Given the description of an element on the screen output the (x, y) to click on. 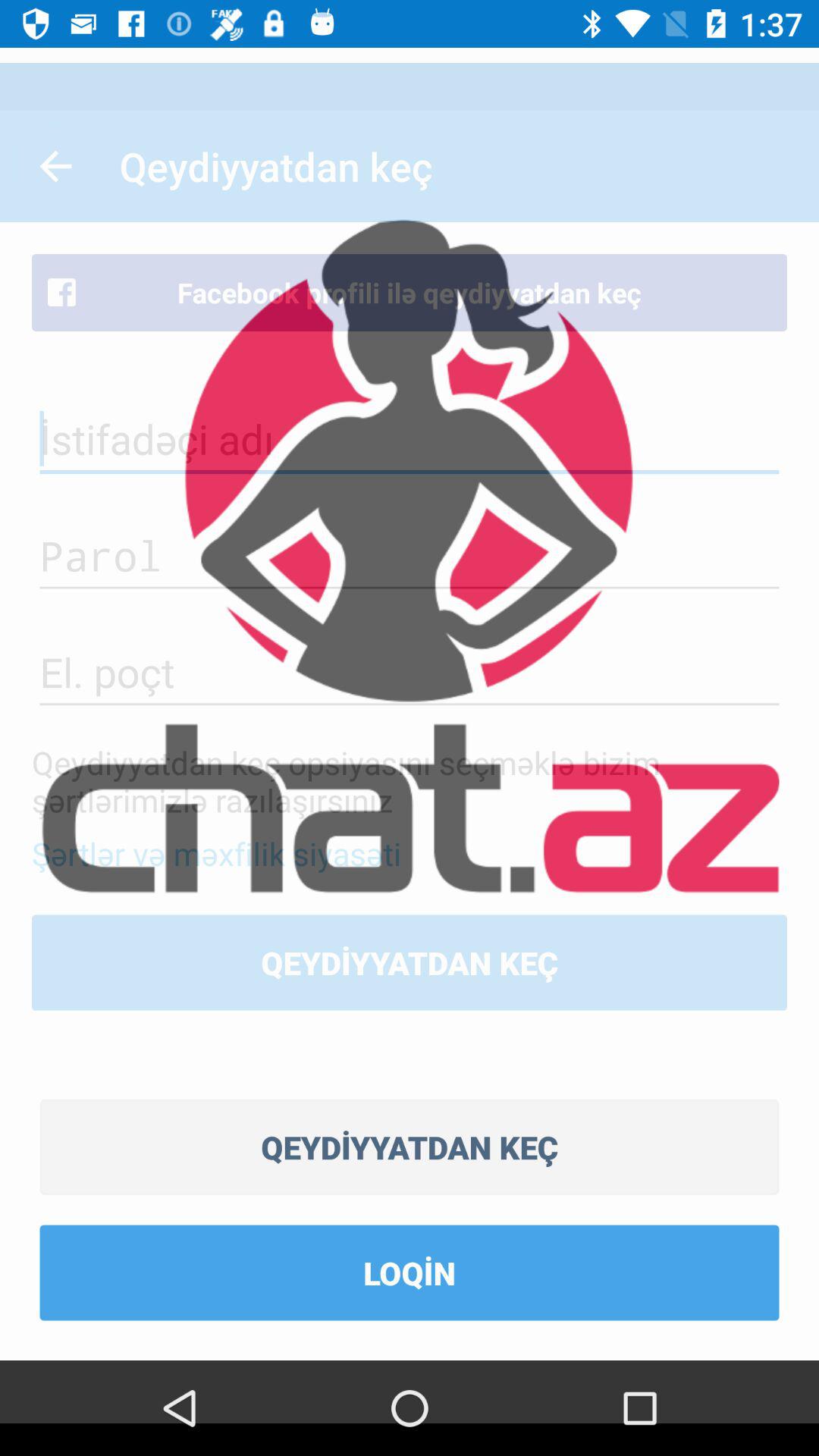
turn off the loqin item (409, 1272)
